Given the description of an element on the screen output the (x, y) to click on. 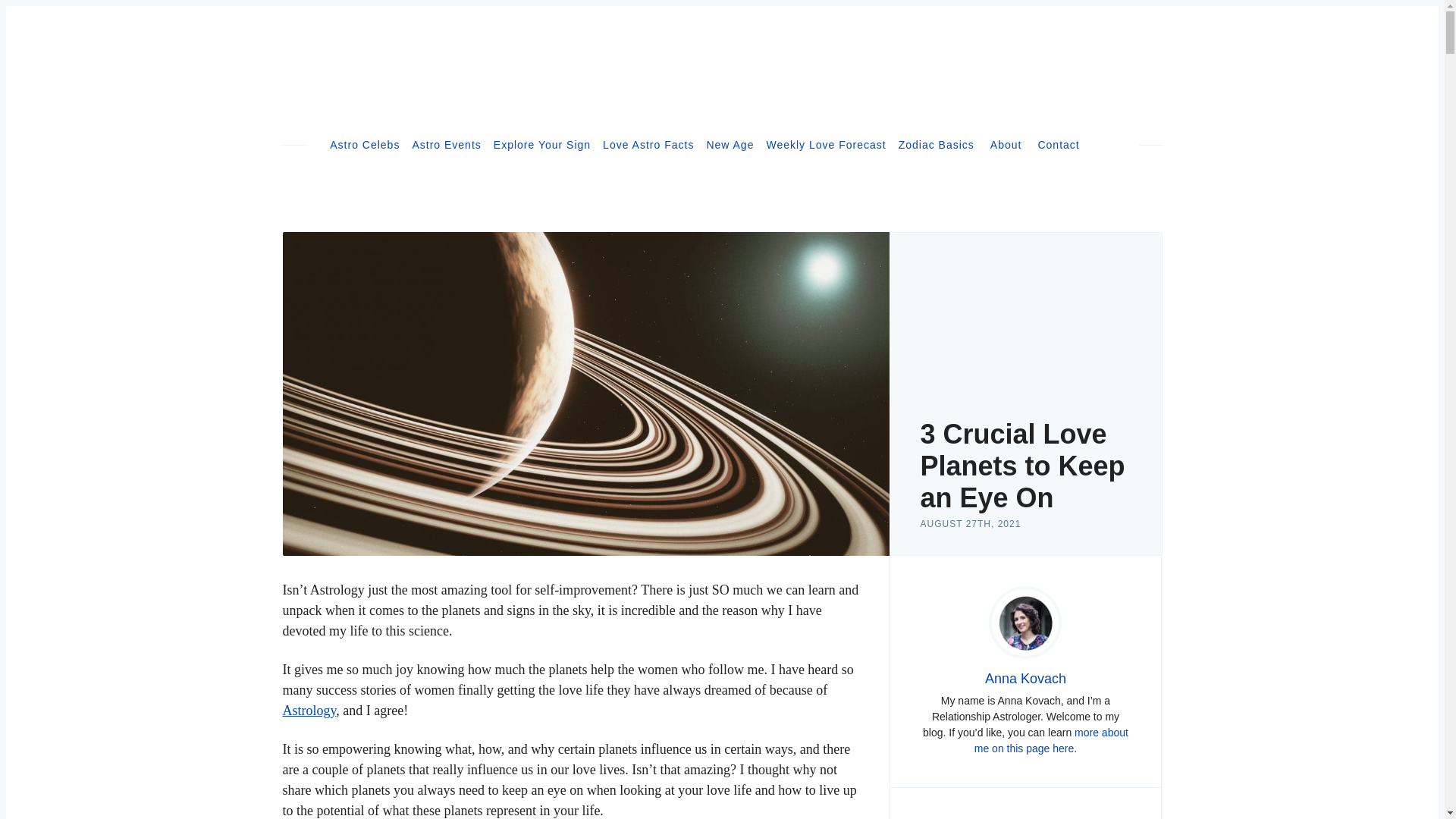
Astrology (309, 710)
Astro Celebs (364, 144)
Contact (1057, 144)
Weekly Love Forecast (825, 144)
New Age (730, 144)
Love Astro Facts (648, 144)
Explore Your Sign (542, 144)
Astro Events (446, 144)
Zodiac Basics (936, 144)
